Given the description of an element on the screen output the (x, y) to click on. 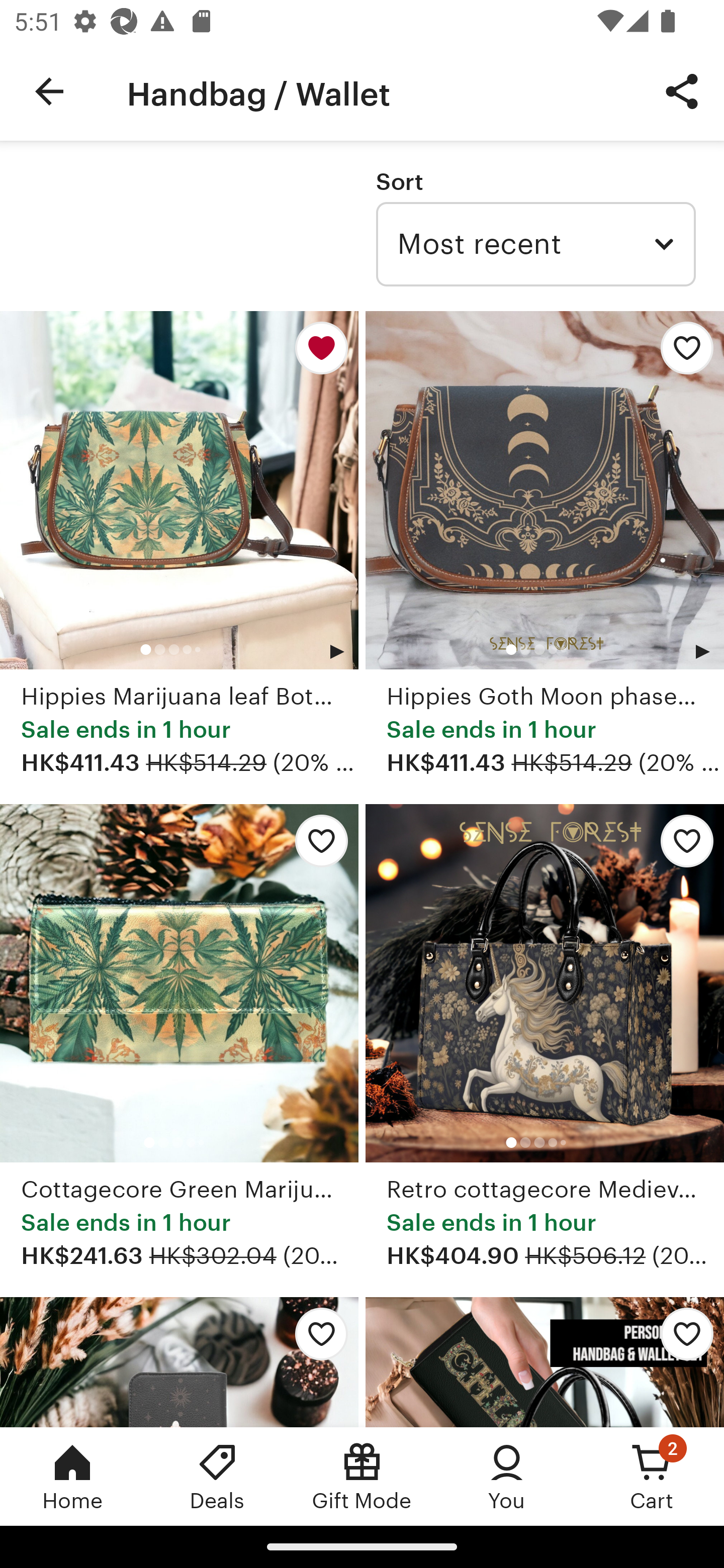
Navigate up (49, 91)
Share Button (681, 90)
Sort (399, 181)
Most recent (535, 244)
Deals (216, 1475)
Gift Mode (361, 1475)
You (506, 1475)
Cart, 2 new notifications Cart (651, 1475)
